Given the description of an element on the screen output the (x, y) to click on. 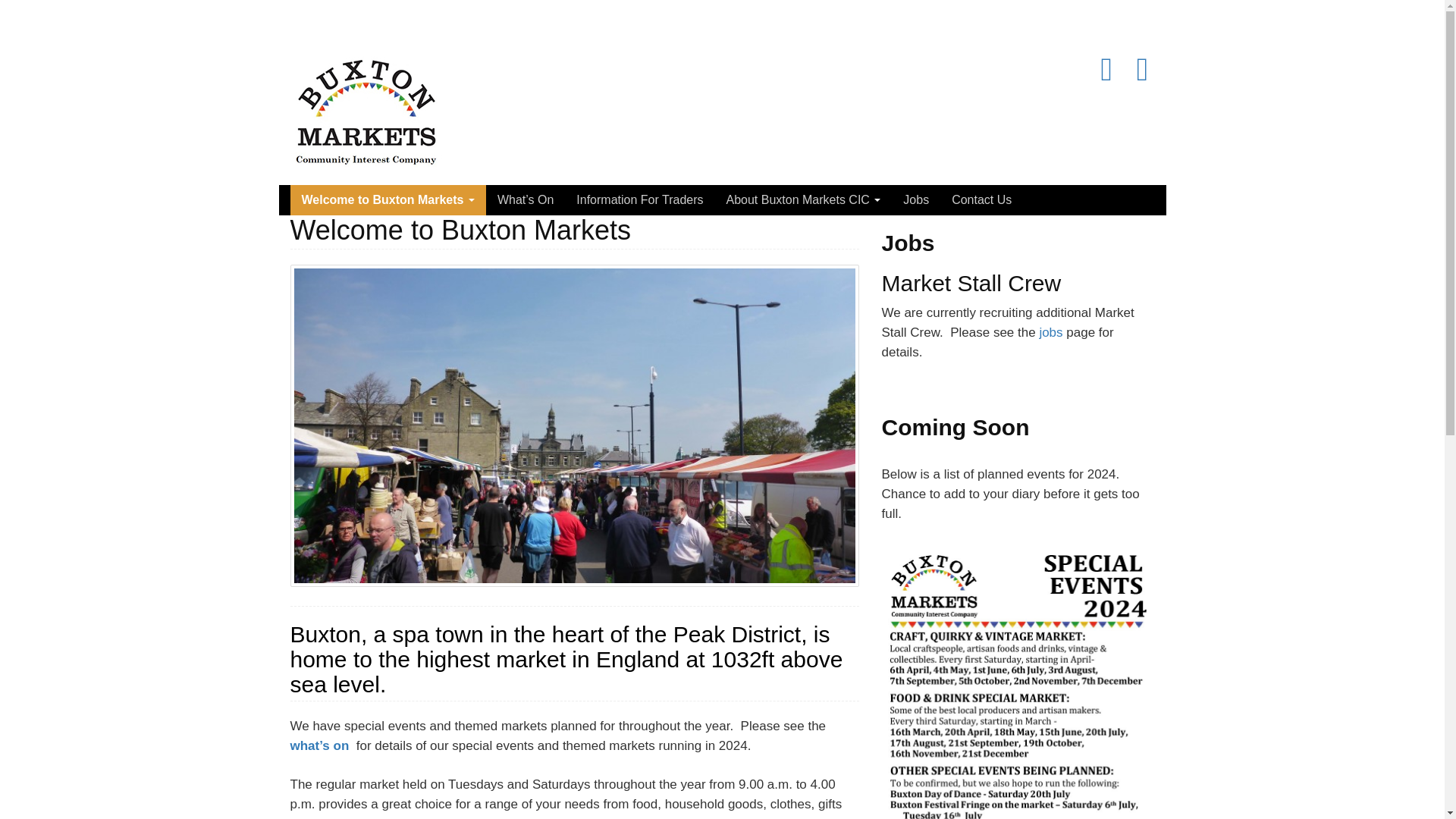
About Buxton Markets CIC (802, 200)
Information For Traders (639, 200)
Welcome to Buxton Markets (386, 200)
Jobs (915, 200)
Contact Us (981, 200)
Jobs (915, 200)
Buxton Markets (365, 106)
About Buxton Markets CIC (802, 200)
Welcome to Buxton Markets (386, 200)
jobs (1050, 332)
Contact Us (981, 200)
Information For Traders (639, 200)
